Given the description of an element on the screen output the (x, y) to click on. 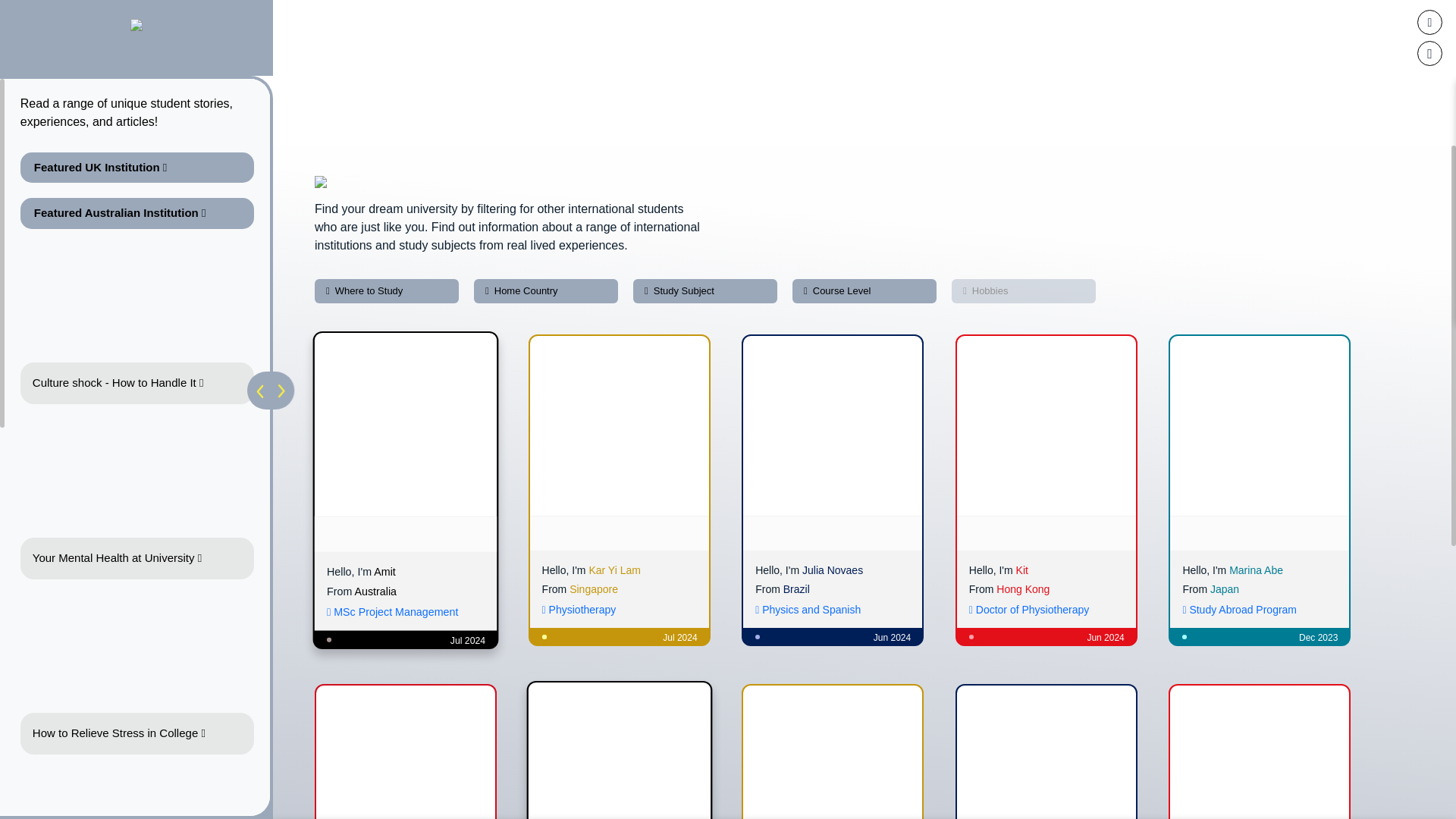
 Physics and Spanish (807, 609)
 Study Abroad Program (1239, 609)
 Physiotherapy (578, 609)
Featured UK Institution (136, 167)
 MSc Project Management (390, 612)
Featured Australian Institution (136, 213)
 Doctor of Physiotherapy (1029, 609)
